Given the description of an element on the screen output the (x, y) to click on. 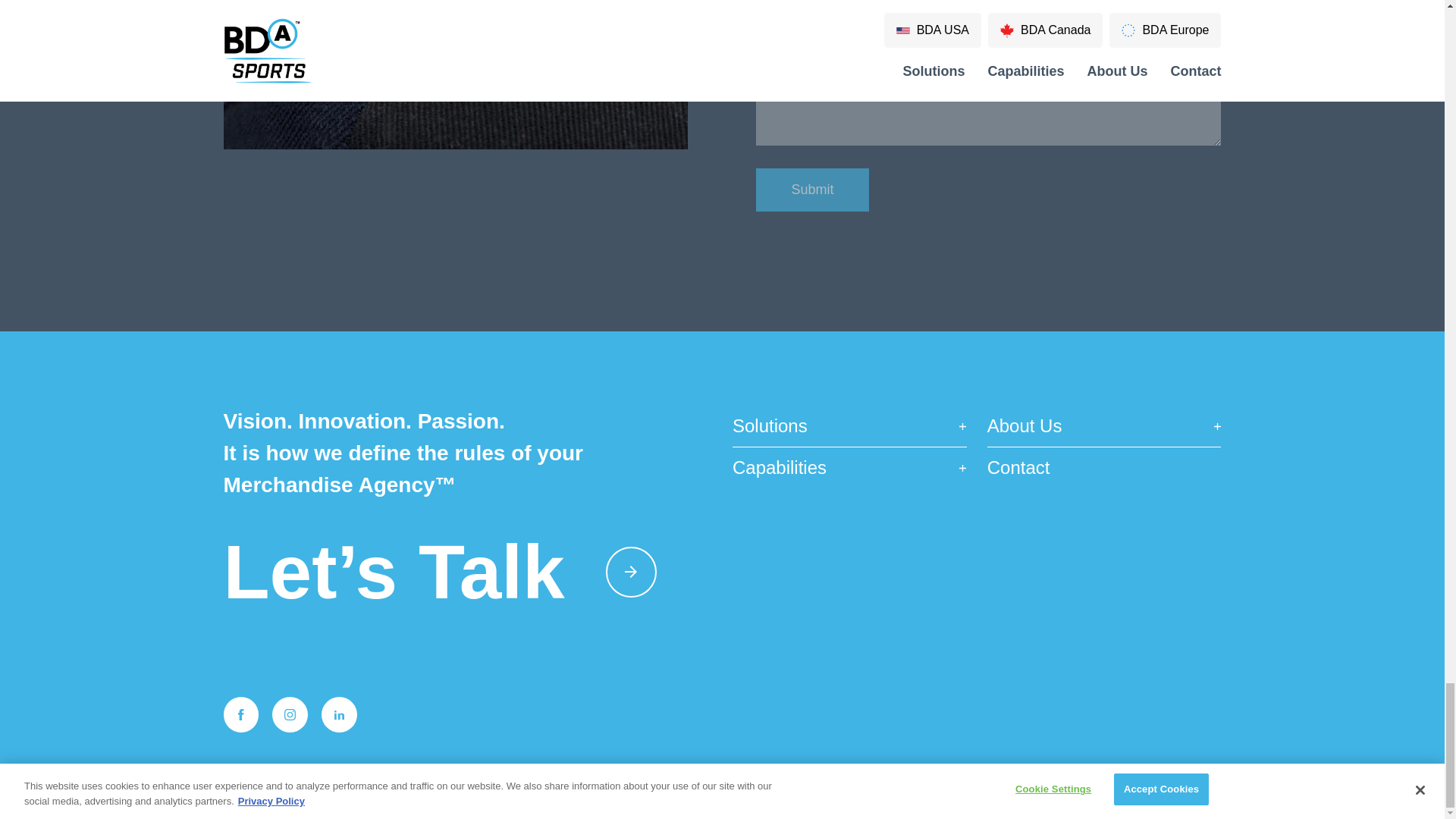
Submit (811, 190)
Solutions (849, 425)
Submit (811, 190)
